Given the description of an element on the screen output the (x, y) to click on. 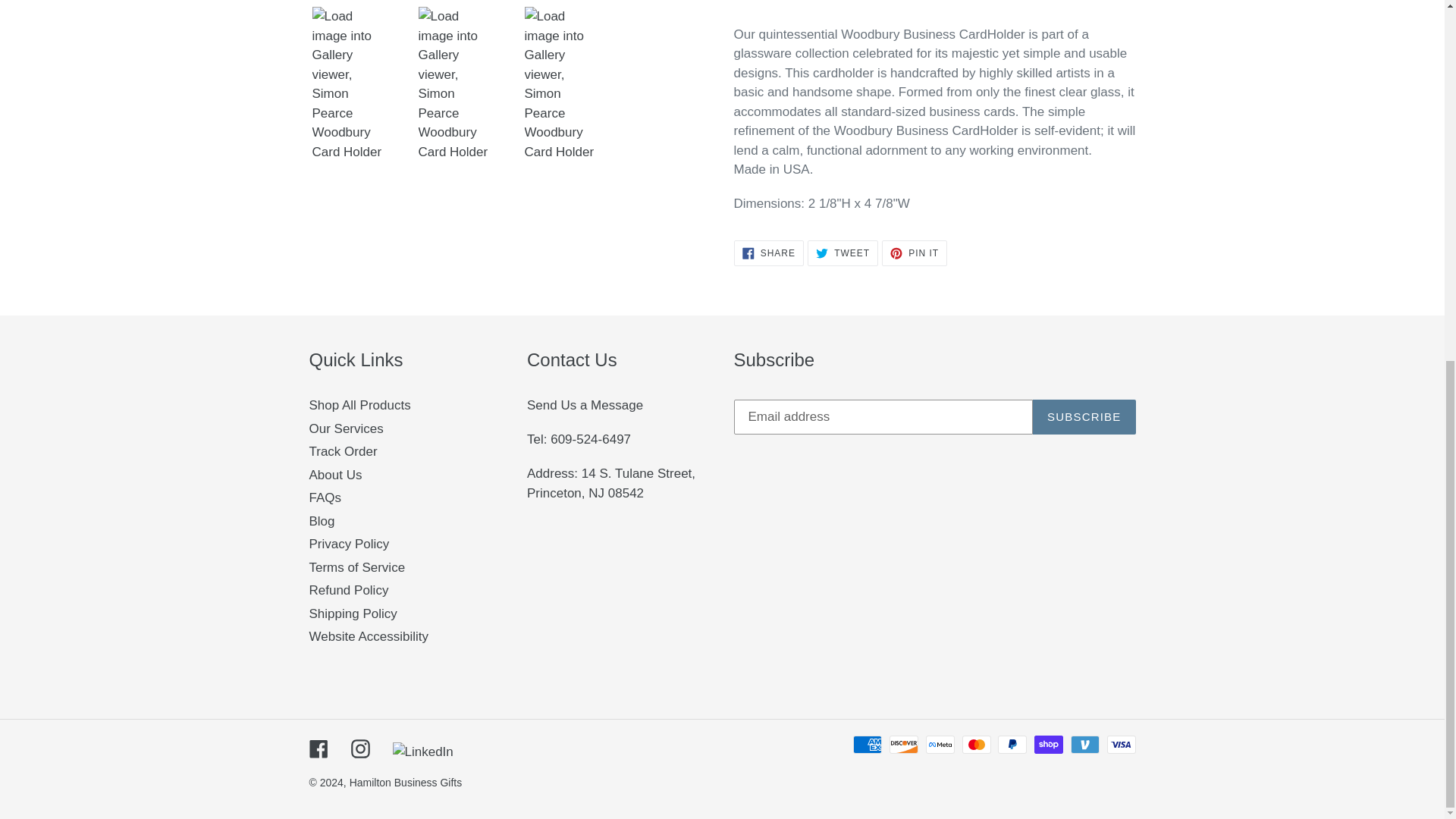
Contact Us (585, 405)
